Given the description of an element on the screen output the (x, y) to click on. 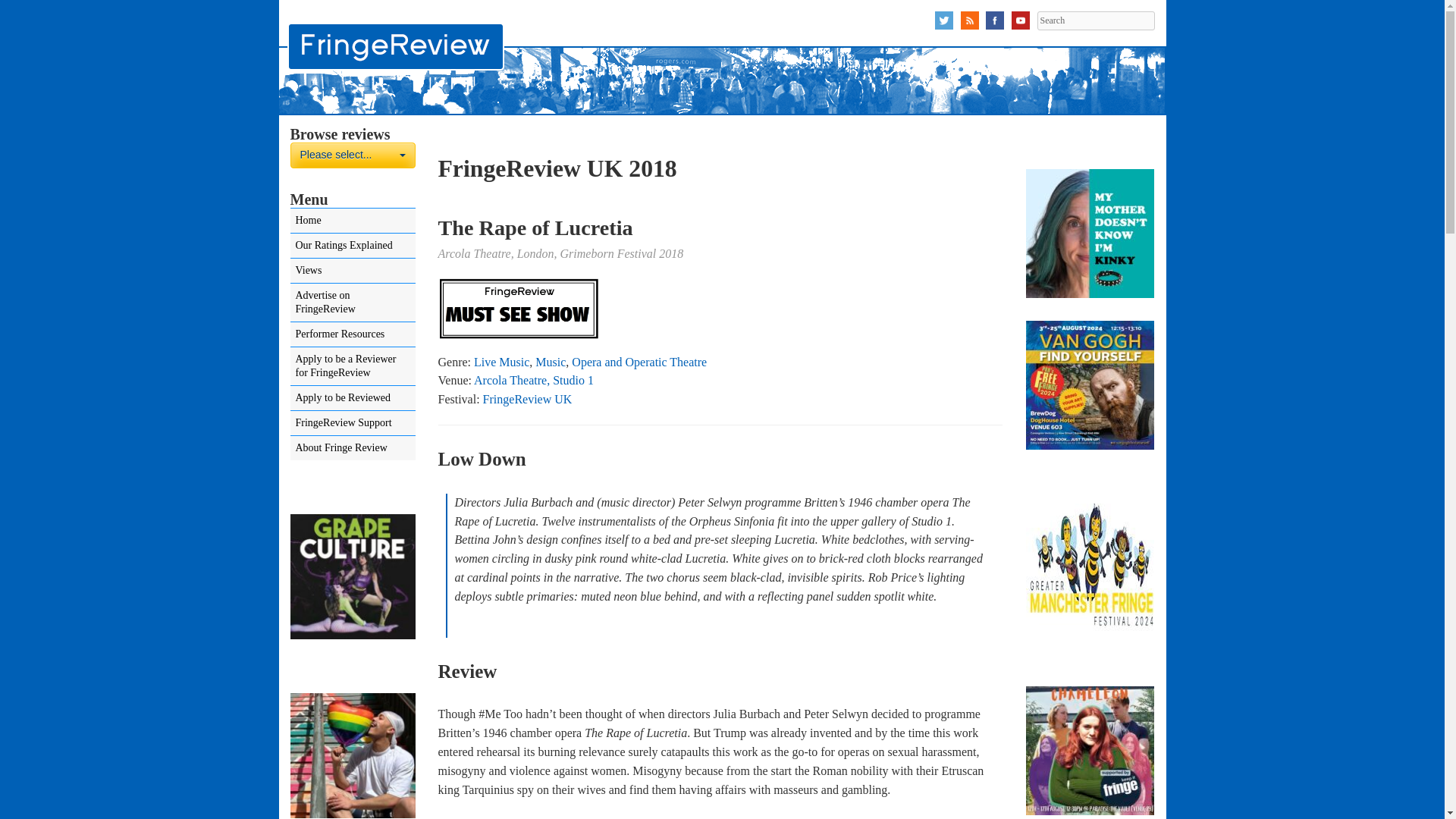
Search (1095, 20)
Search for: (1095, 20)
Please select... (351, 155)
Search (1095, 20)
